Given the description of an element on the screen output the (x, y) to click on. 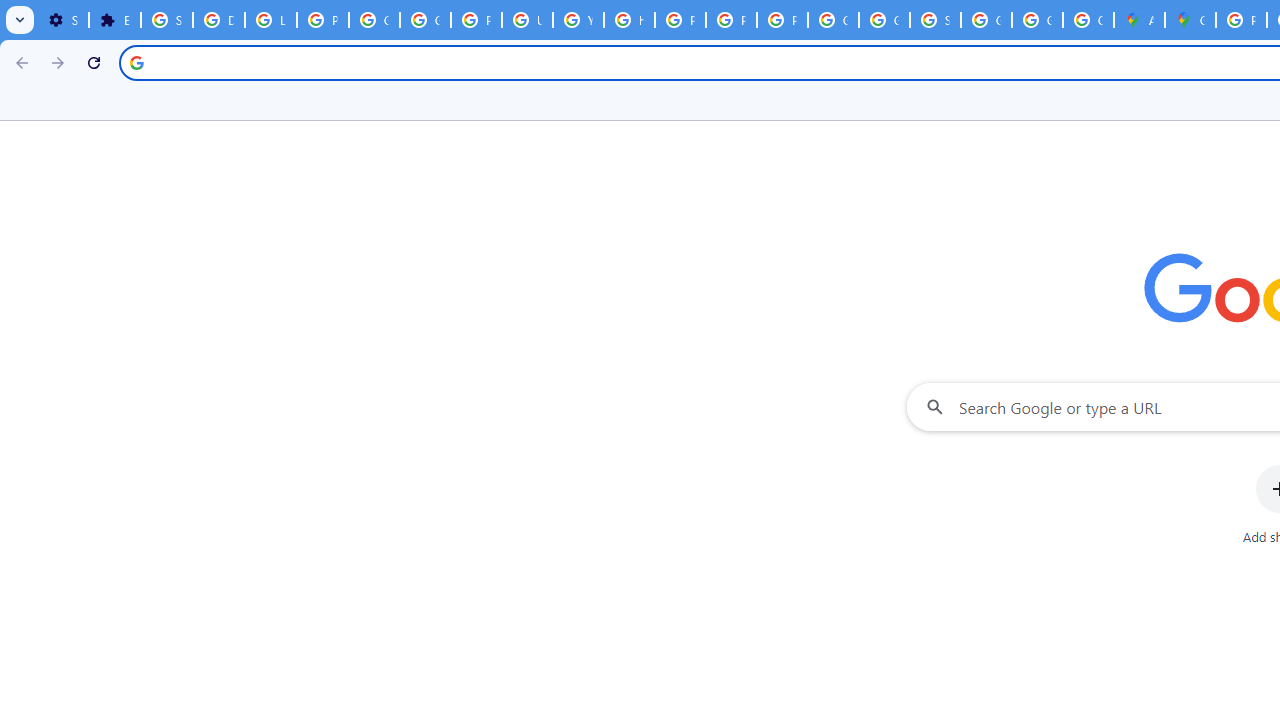
YouTube (578, 20)
Delete photos & videos - Computer - Google Photos Help (218, 20)
Privacy Help Center - Policies Help (680, 20)
Google Maps (1189, 20)
Create your Google Account (1087, 20)
